Given the description of an element on the screen output the (x, y) to click on. 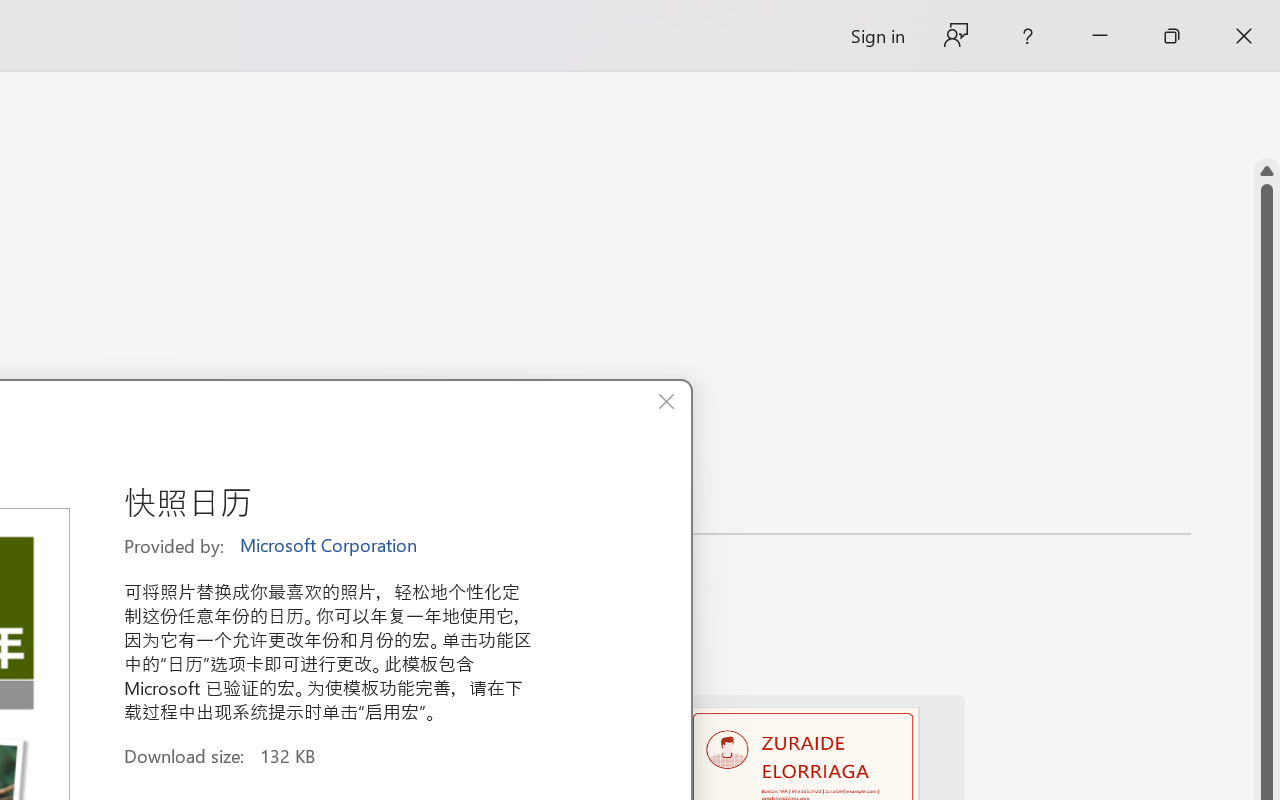
Line up (1267, 171)
Microsoft Corporation (330, 546)
